Given the description of an element on the screen output the (x, y) to click on. 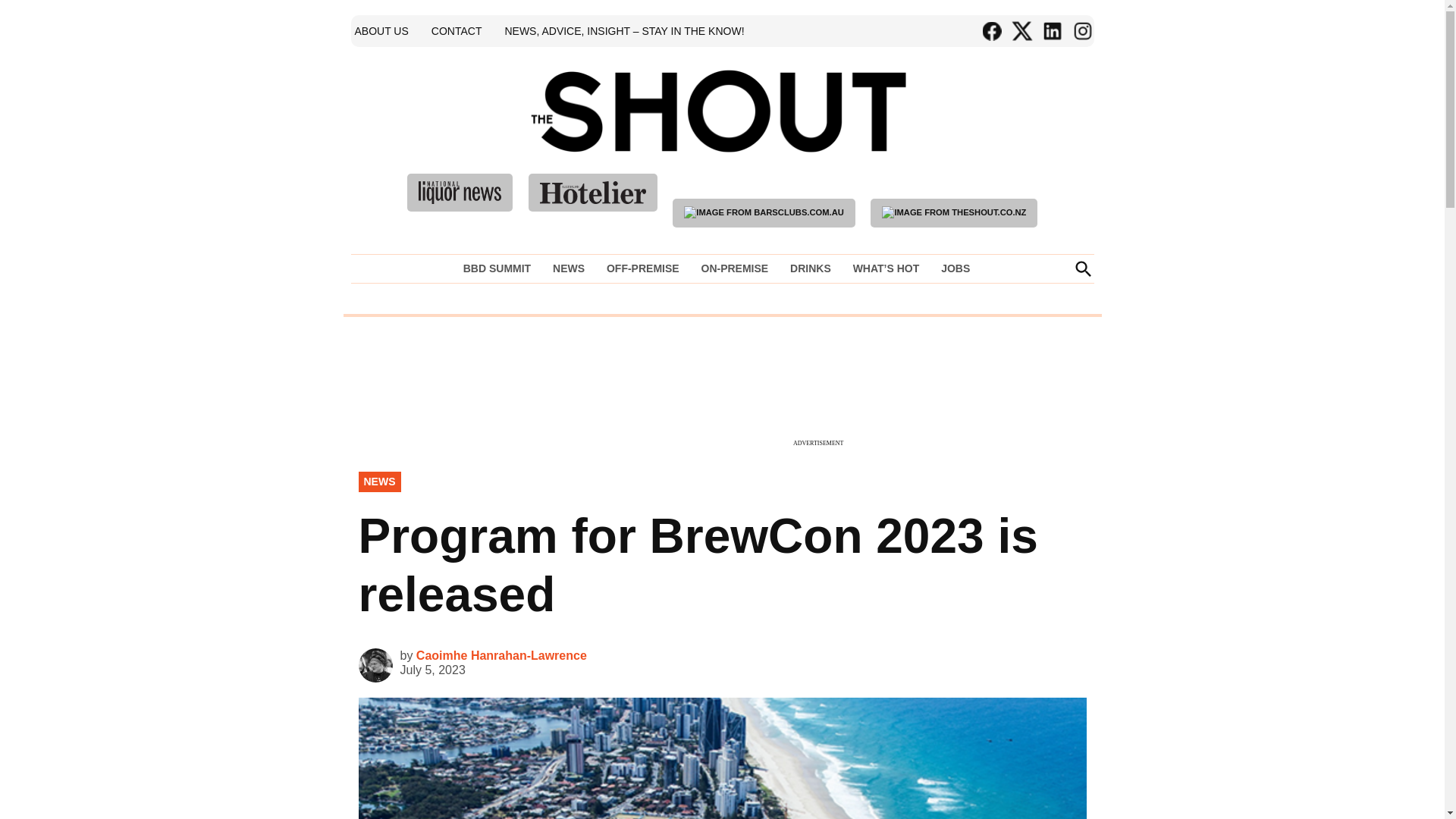
Linkedin (1051, 31)
NEWS (568, 268)
ABOUT US (381, 30)
BBD SUMMIT (500, 268)
The Shout (939, 133)
Twitter (1021, 31)
OFF-PREMISE (642, 268)
ON-PREMISE (734, 268)
CONTACT (457, 30)
Instagram (1081, 31)
